Given the description of an element on the screen output the (x, y) to click on. 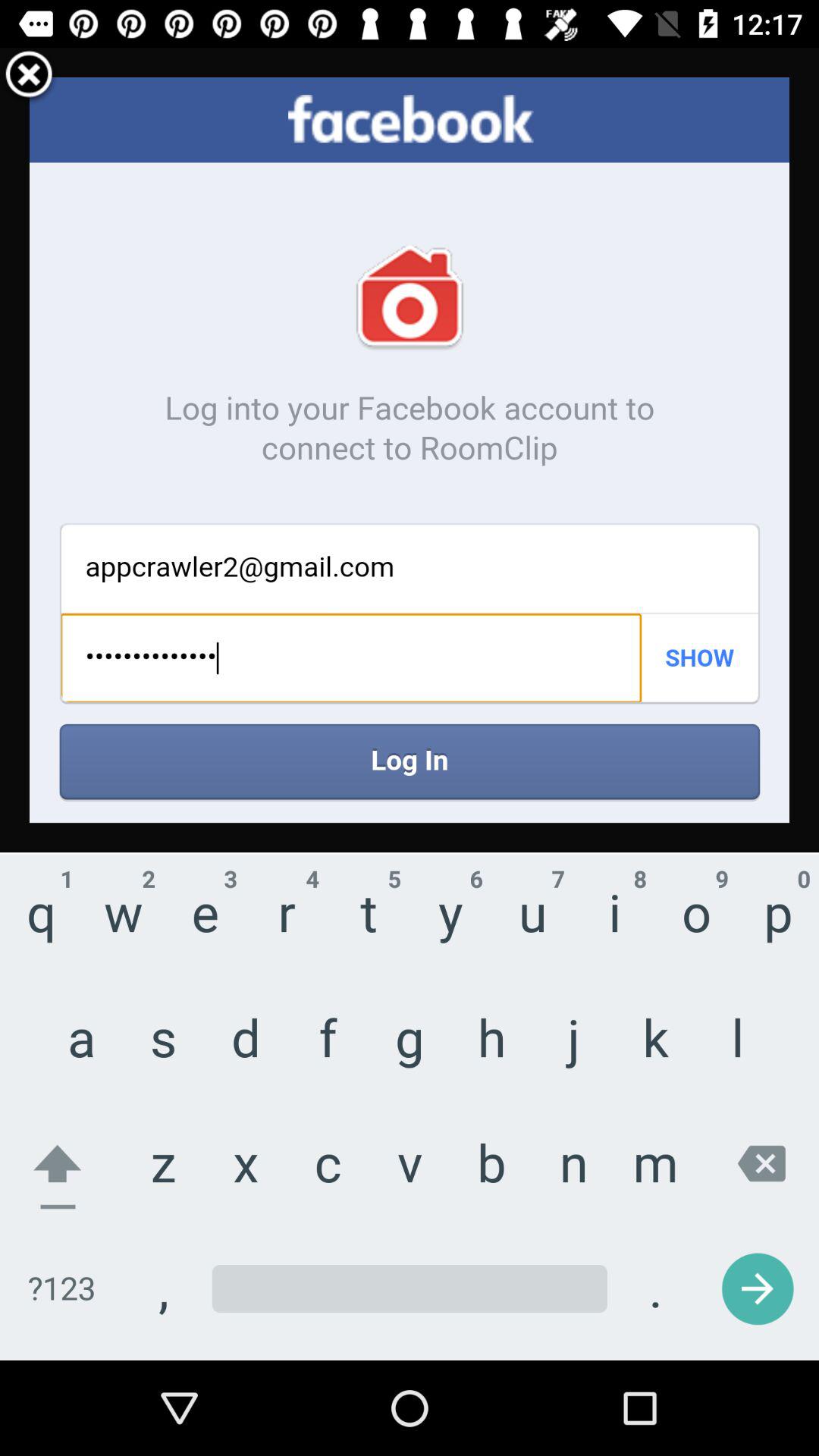
close post (29, 76)
